Given the description of an element on the screen output the (x, y) to click on. 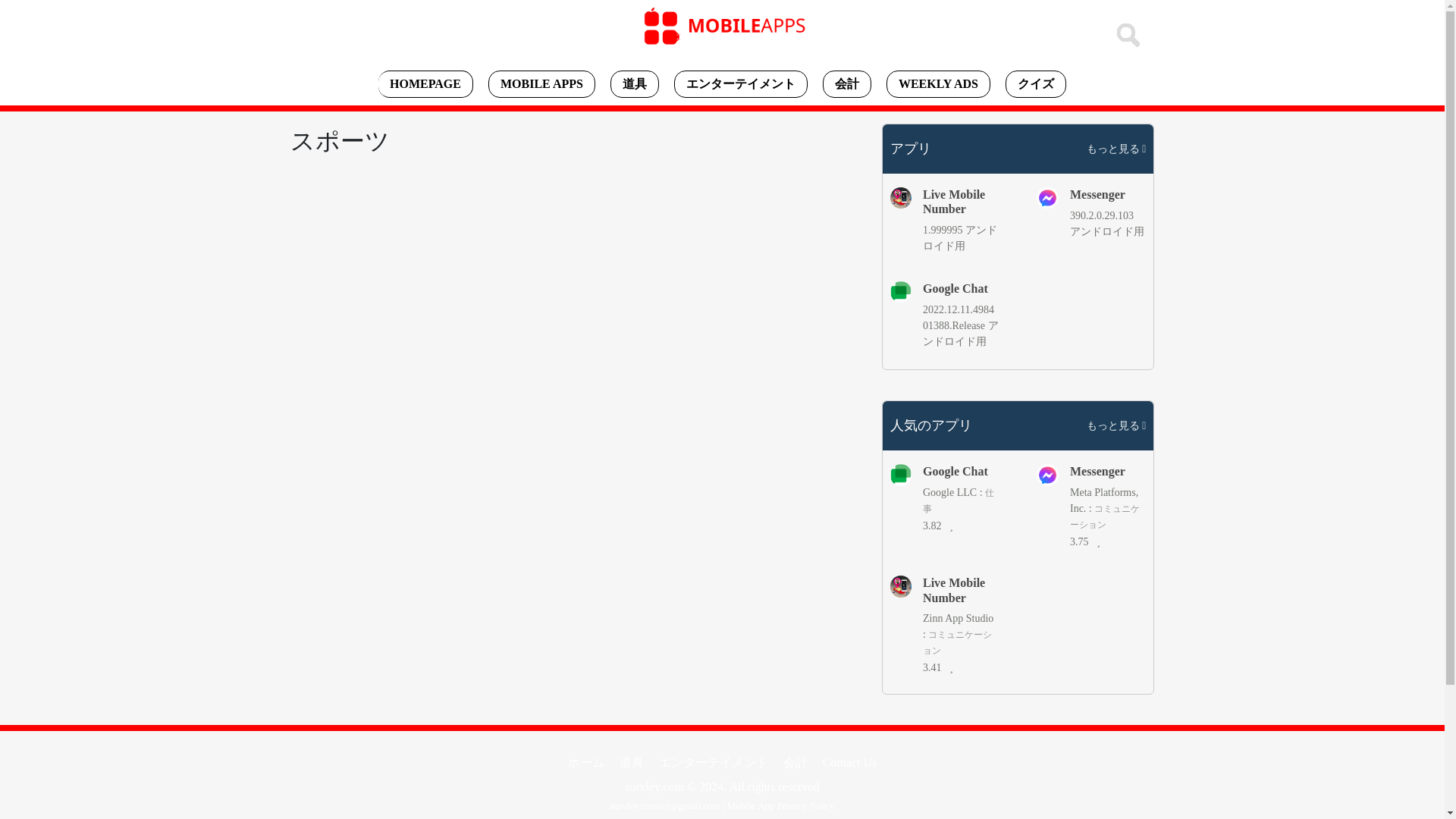
WEEKLY ADS (938, 83)
Rechercher (1127, 35)
Mobile App Privacy Policy (780, 805)
Google Chat (960, 471)
HOMEPAGE (425, 83)
Rechercher (1127, 35)
Live Mobile Number Tracker (960, 589)
Contact Us (850, 762)
Messenger (1107, 194)
Live Mobile Number Tracker (960, 201)
Google Chat (960, 288)
Messenger (1107, 471)
MOBILE APPS (541, 83)
